Given the description of an element on the screen output the (x, y) to click on. 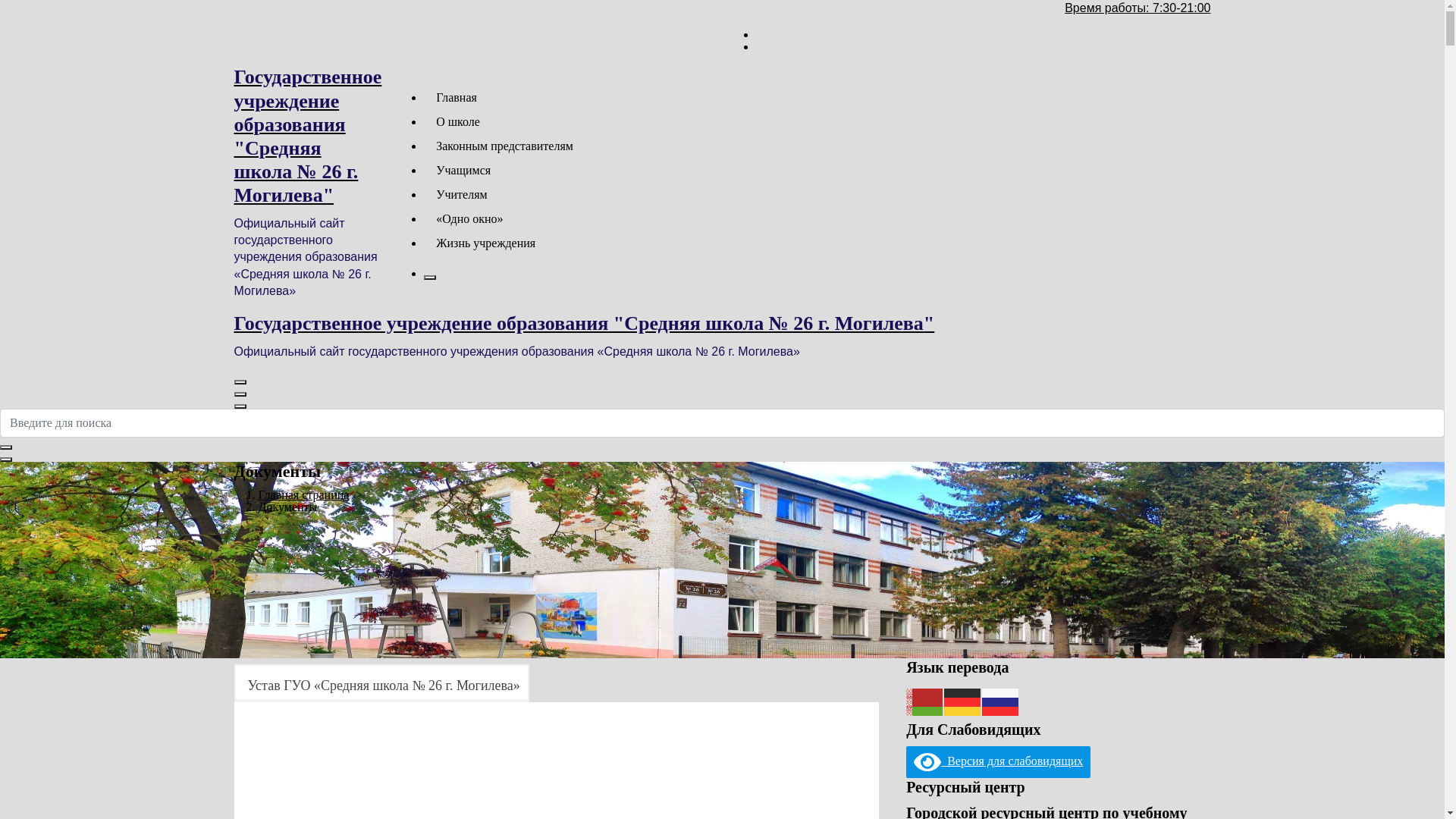
German Element type: hover (963, 700)
Russian Element type: hover (1000, 700)
Belarusian Element type: hover (925, 700)
